Given the description of an element on the screen output the (x, y) to click on. 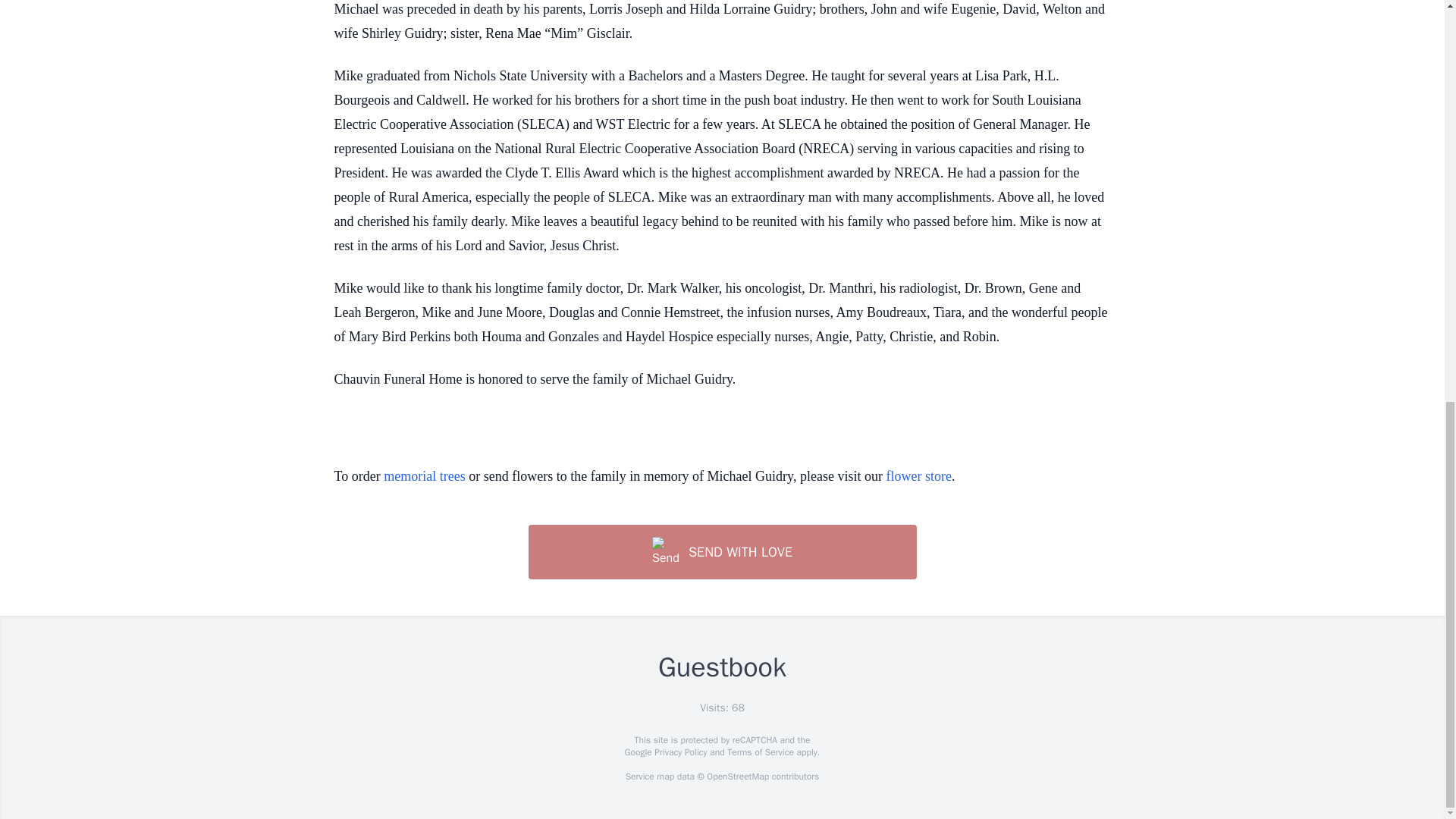
memorial trees (424, 476)
OpenStreetMap (737, 776)
SEND WITH LOVE (721, 551)
Terms of Service (759, 752)
flower store (917, 476)
Privacy Policy (679, 752)
